Given the description of an element on the screen output the (x, y) to click on. 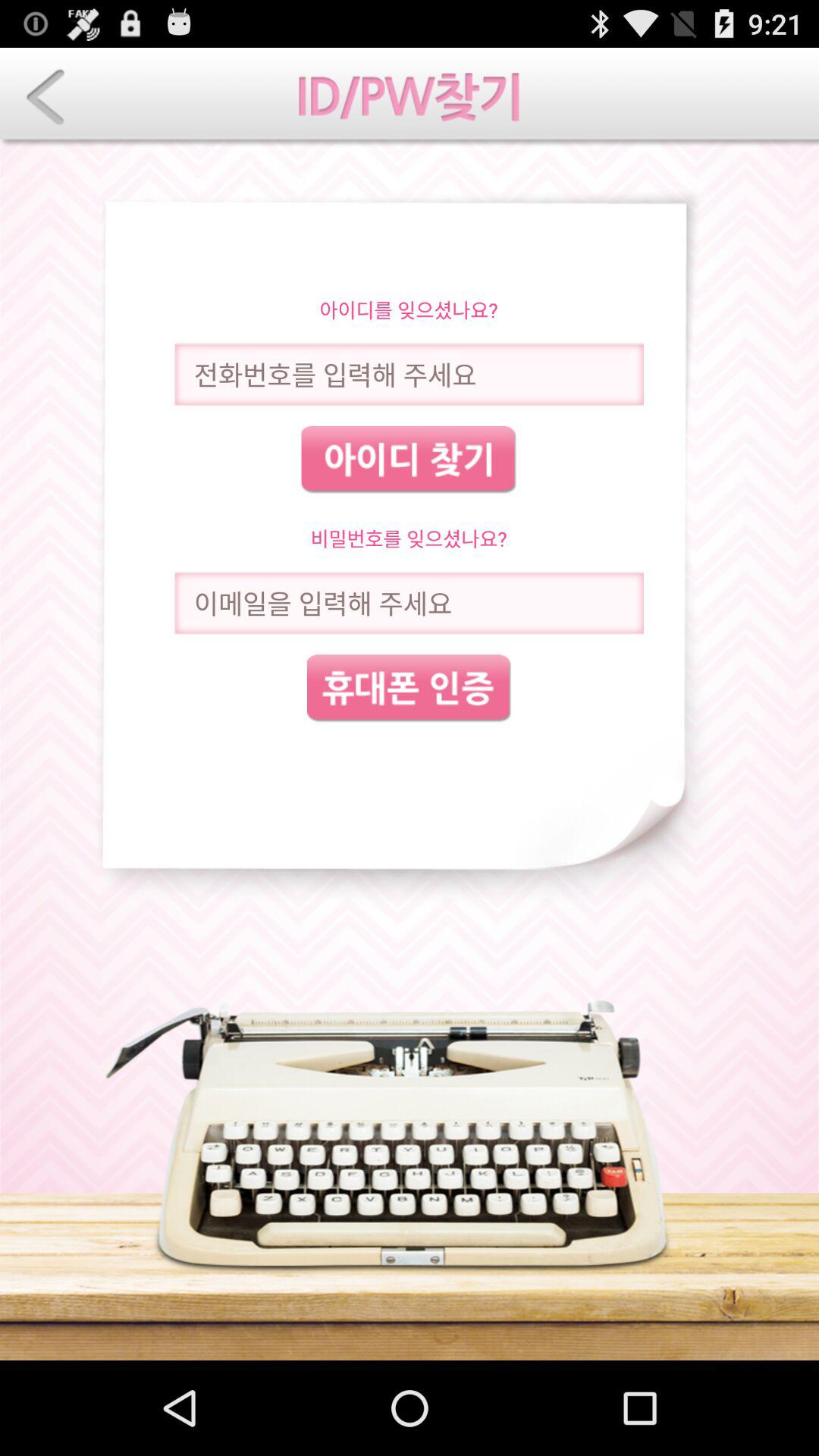
alerta para frase (408, 603)
